Given the description of an element on the screen output the (x, y) to click on. 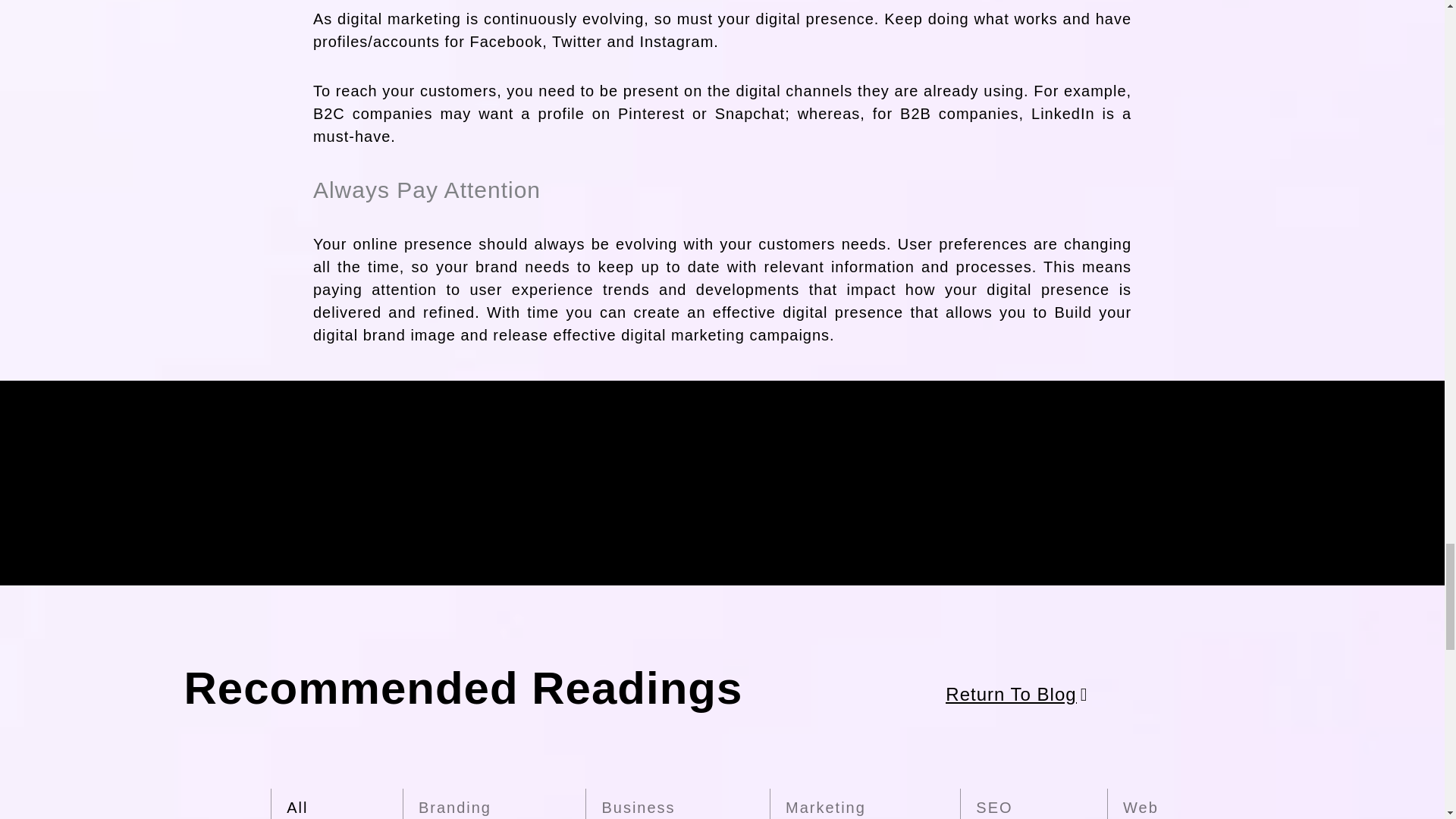
Return To Blog (1016, 694)
All (296, 803)
SEO (993, 803)
Business (637, 803)
Web (1139, 803)
Branding (454, 803)
Marketing (825, 803)
